Given the description of an element on the screen output the (x, y) to click on. 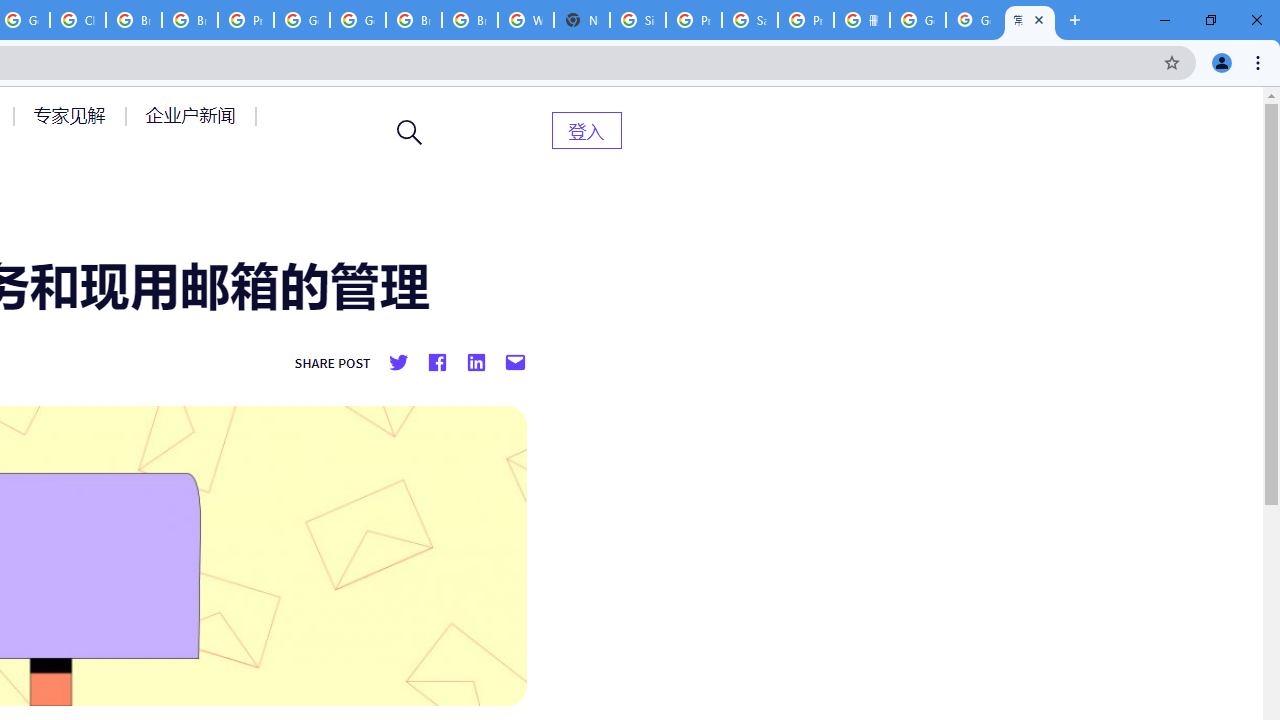
Browse Chrome as a guest - Computer - Google Chrome Help (413, 20)
New Tab (582, 20)
Google Cloud Platform (301, 20)
Sign in - Google Accounts (637, 20)
Browse Chrome as a guest - Computer - Google Chrome Help (469, 20)
